Given the description of an element on the screen output the (x, y) to click on. 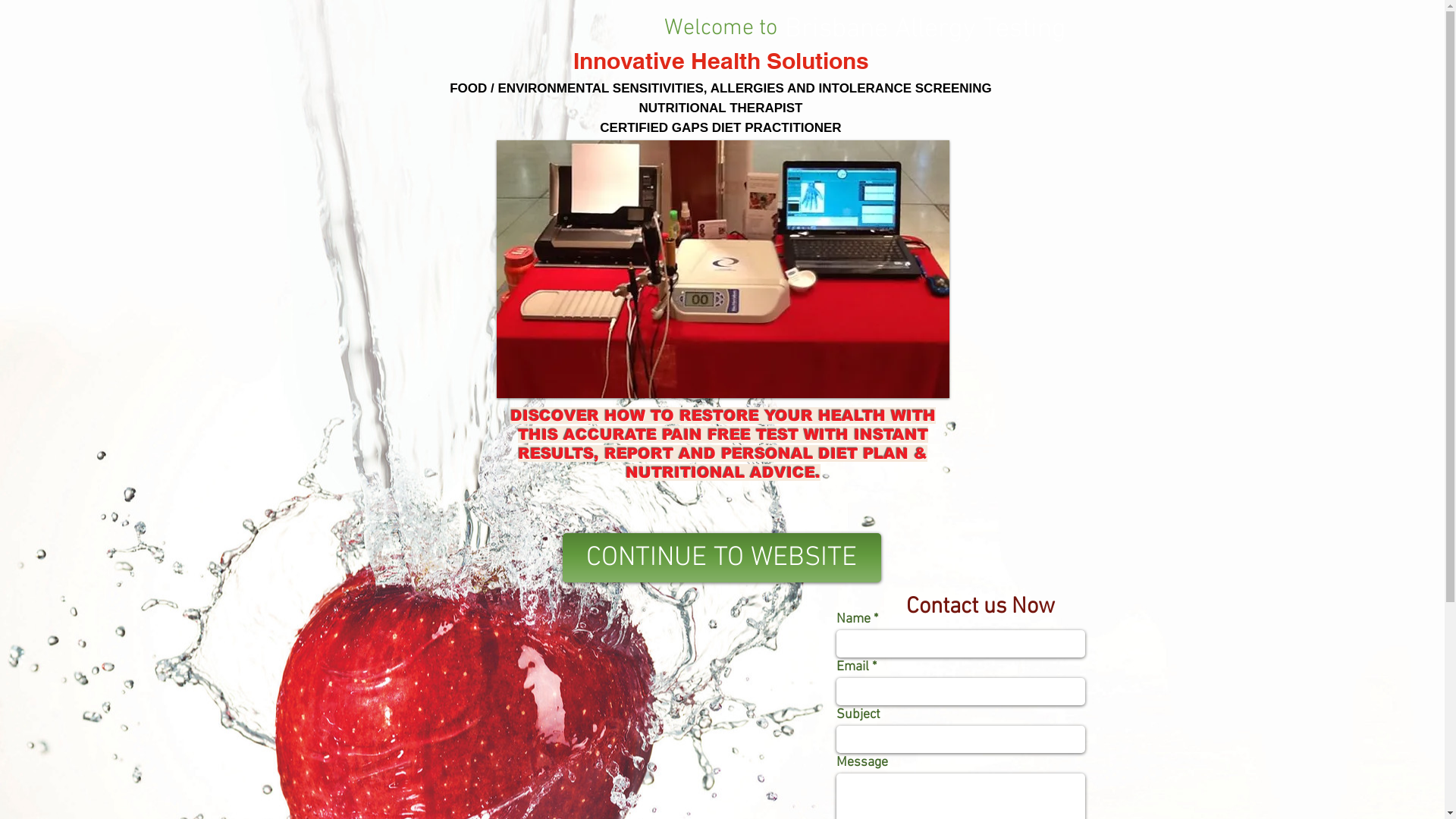
CONTINUE TO WEBSITE Element type: text (721, 557)
